Given the description of an element on the screen output the (x, y) to click on. 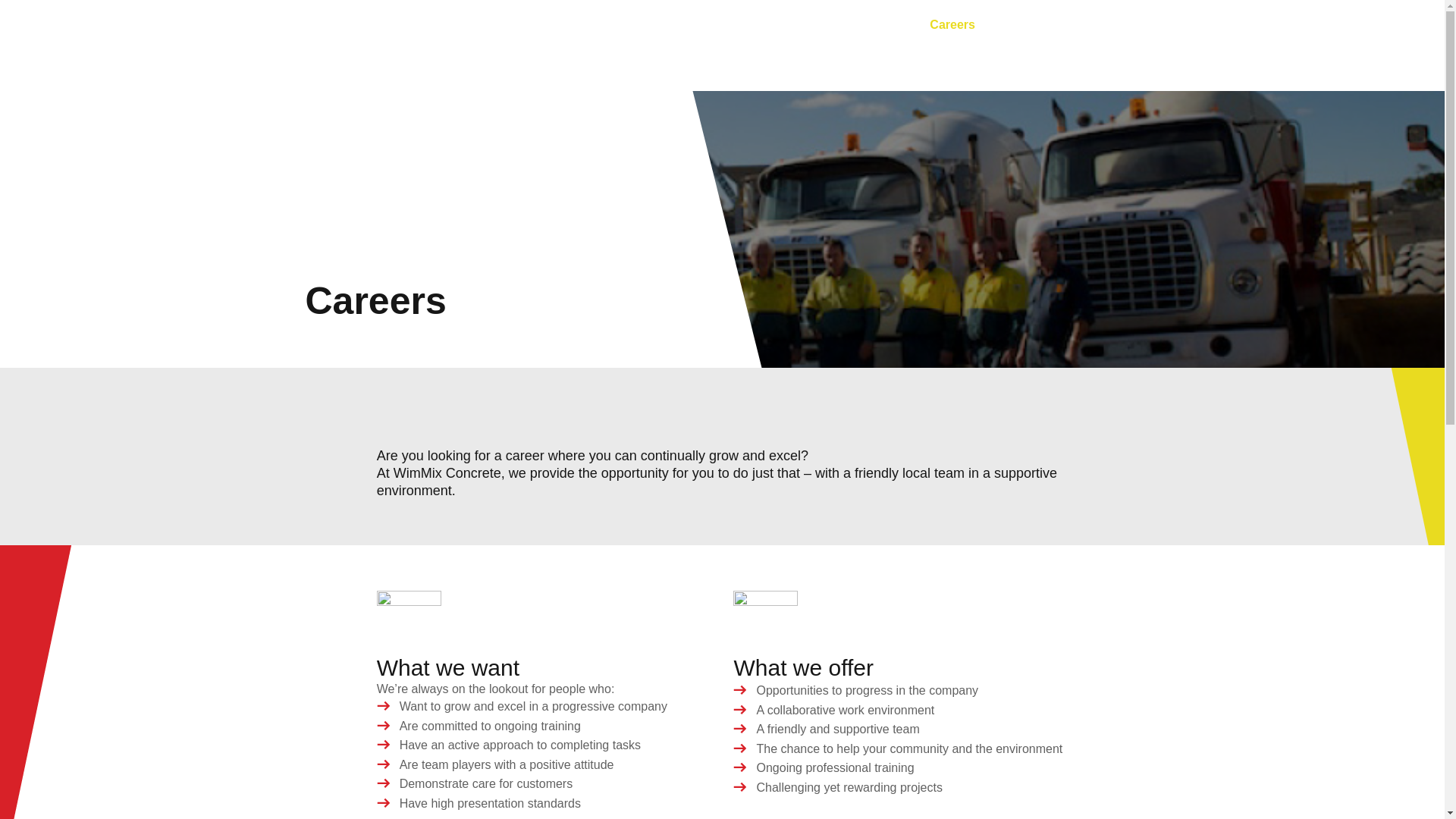
careers-icon-1 (409, 614)
Contact (1104, 24)
careers-icon-2 (765, 614)
Products (877, 24)
Induction (1028, 24)
Careers (952, 24)
About (807, 24)
